Given the description of an element on the screen output the (x, y) to click on. 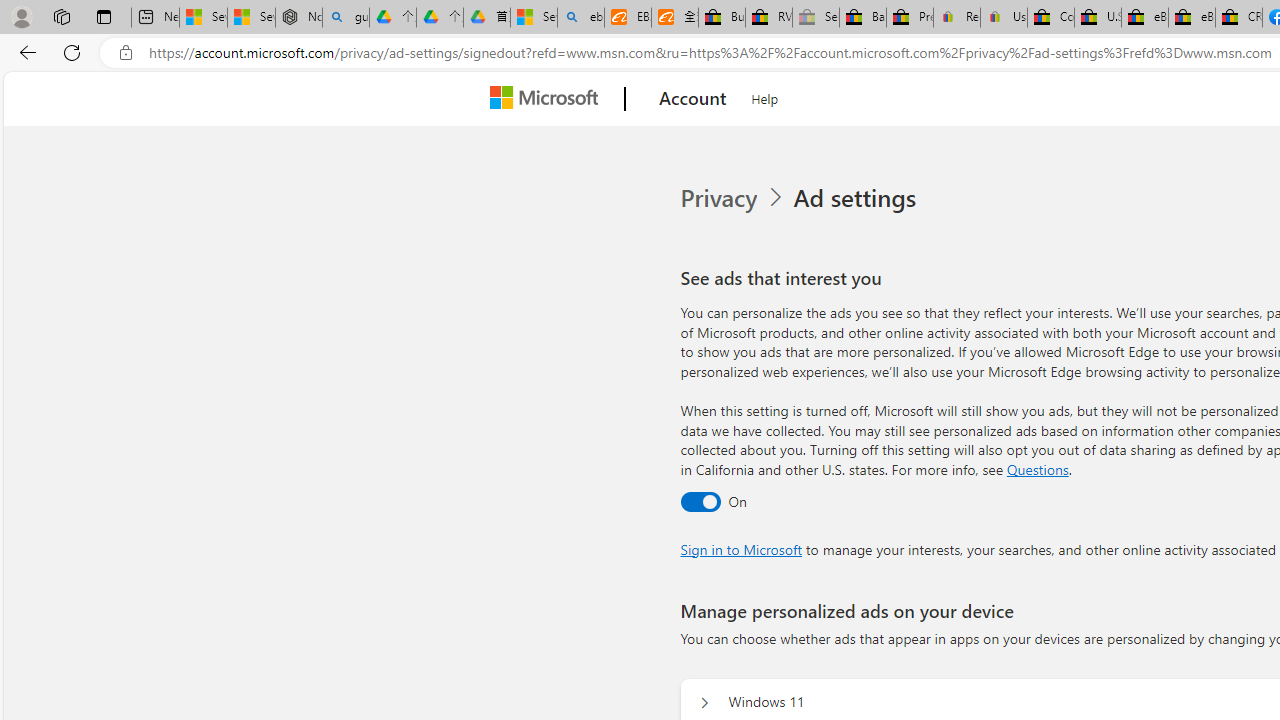
Sign in to Microsoft (740, 548)
Account (692, 99)
User Privacy Notice | eBay (1003, 17)
RV, Trailer & Camper Steps & Ladders for sale | eBay (769, 17)
eBay Inc. Reports Third Quarter 2023 Results (1191, 17)
Help (765, 96)
Help (765, 96)
